Given the description of an element on the screen output the (x, y) to click on. 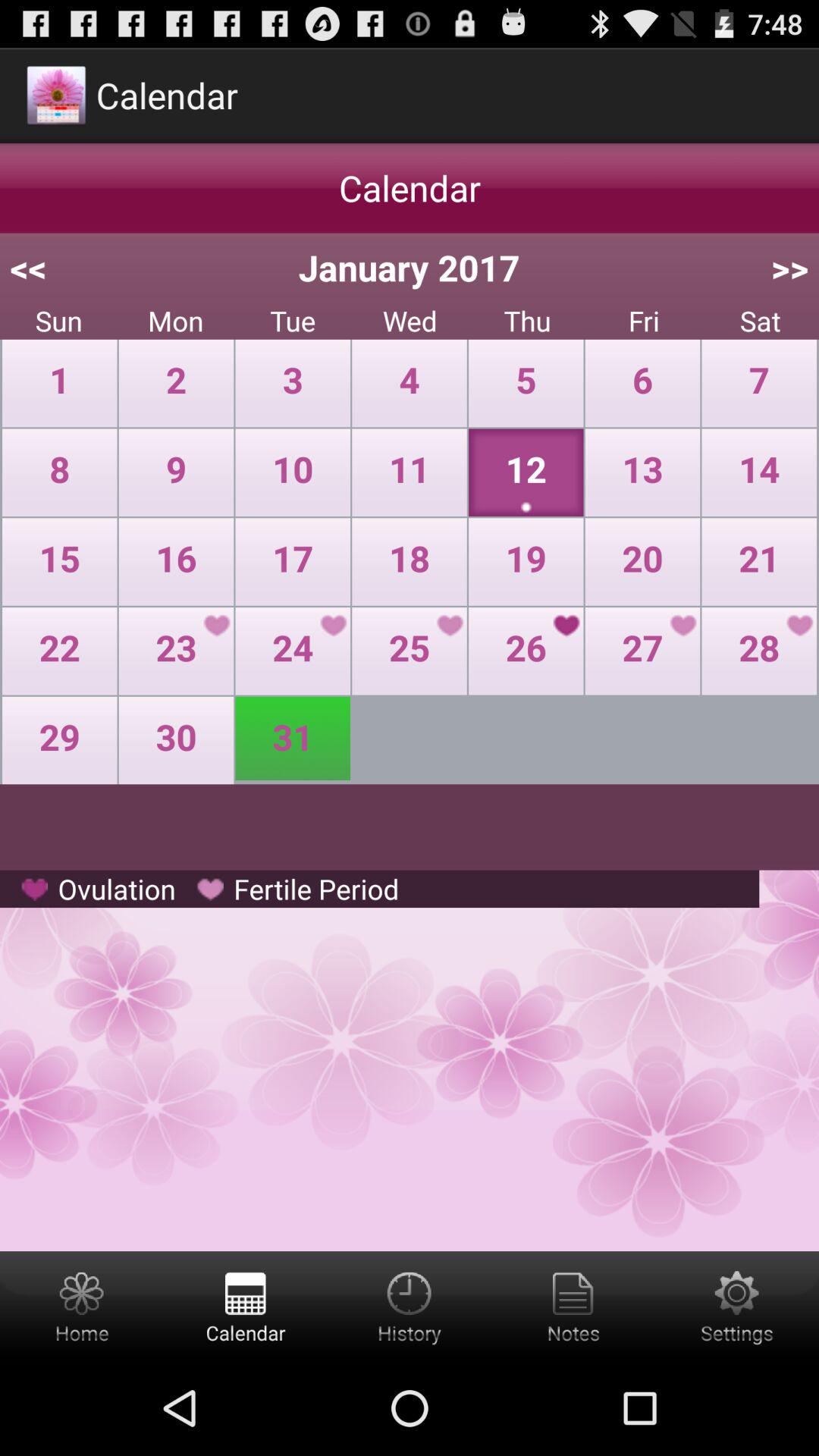
click to home option (81, 1305)
